Given the description of an element on the screen output the (x, y) to click on. 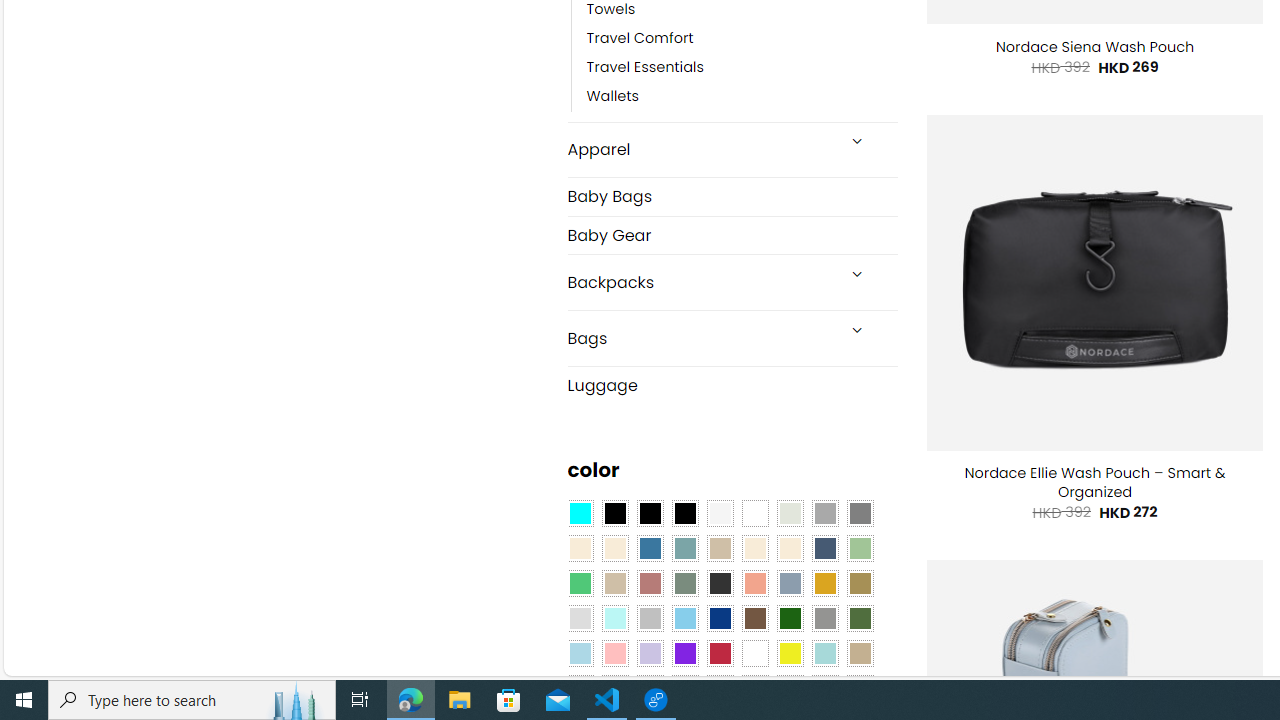
Cream (789, 548)
Pink (614, 653)
All Black (614, 514)
Light Blue (579, 653)
Dark Gray (824, 514)
